Given the description of an element on the screen output the (x, y) to click on. 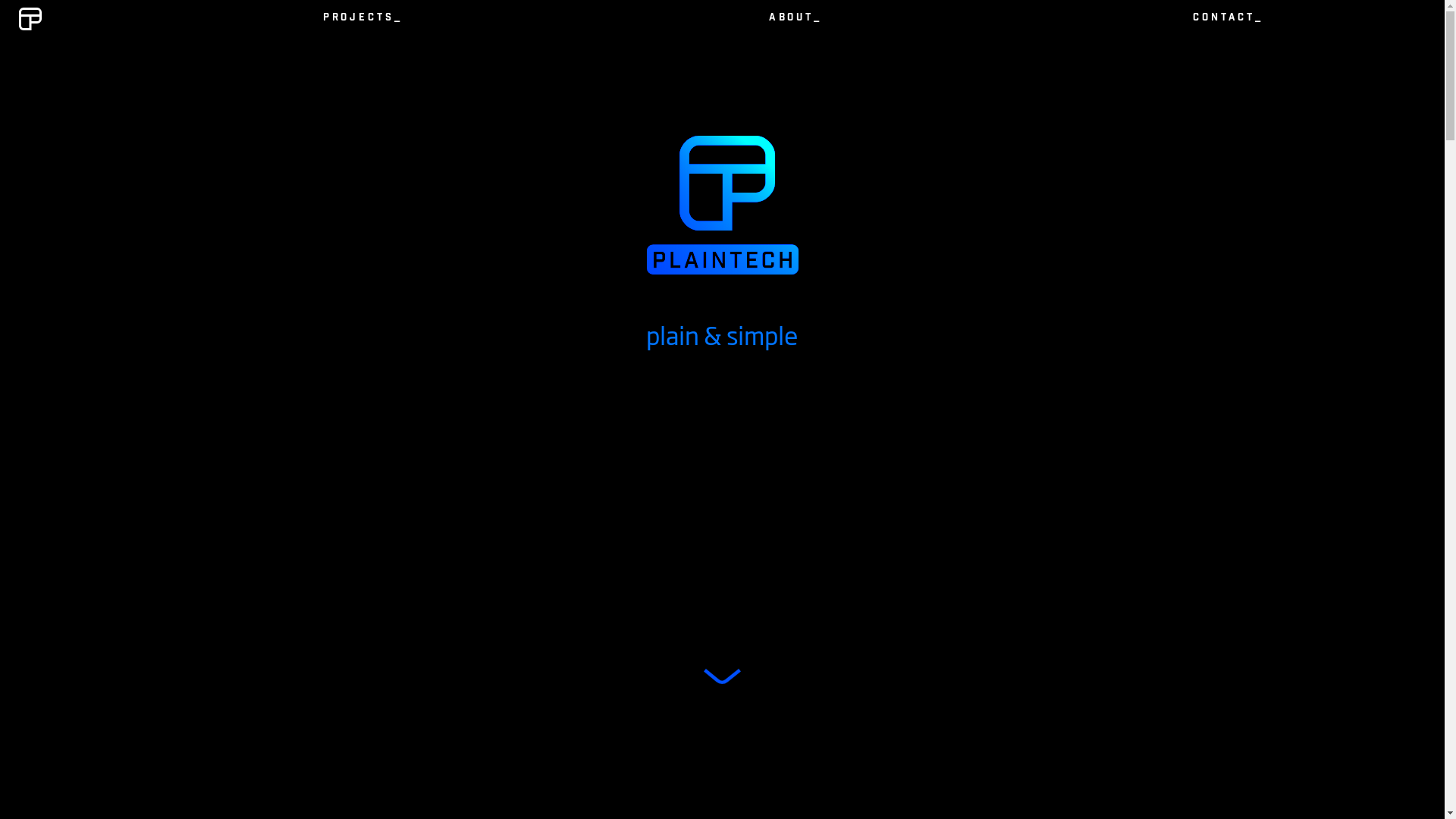
CONTACT Element type: text (1227, 18)
ABOUT Element type: text (794, 18)
PROJECTS Element type: text (362, 18)
